Given the description of an element on the screen output the (x, y) to click on. 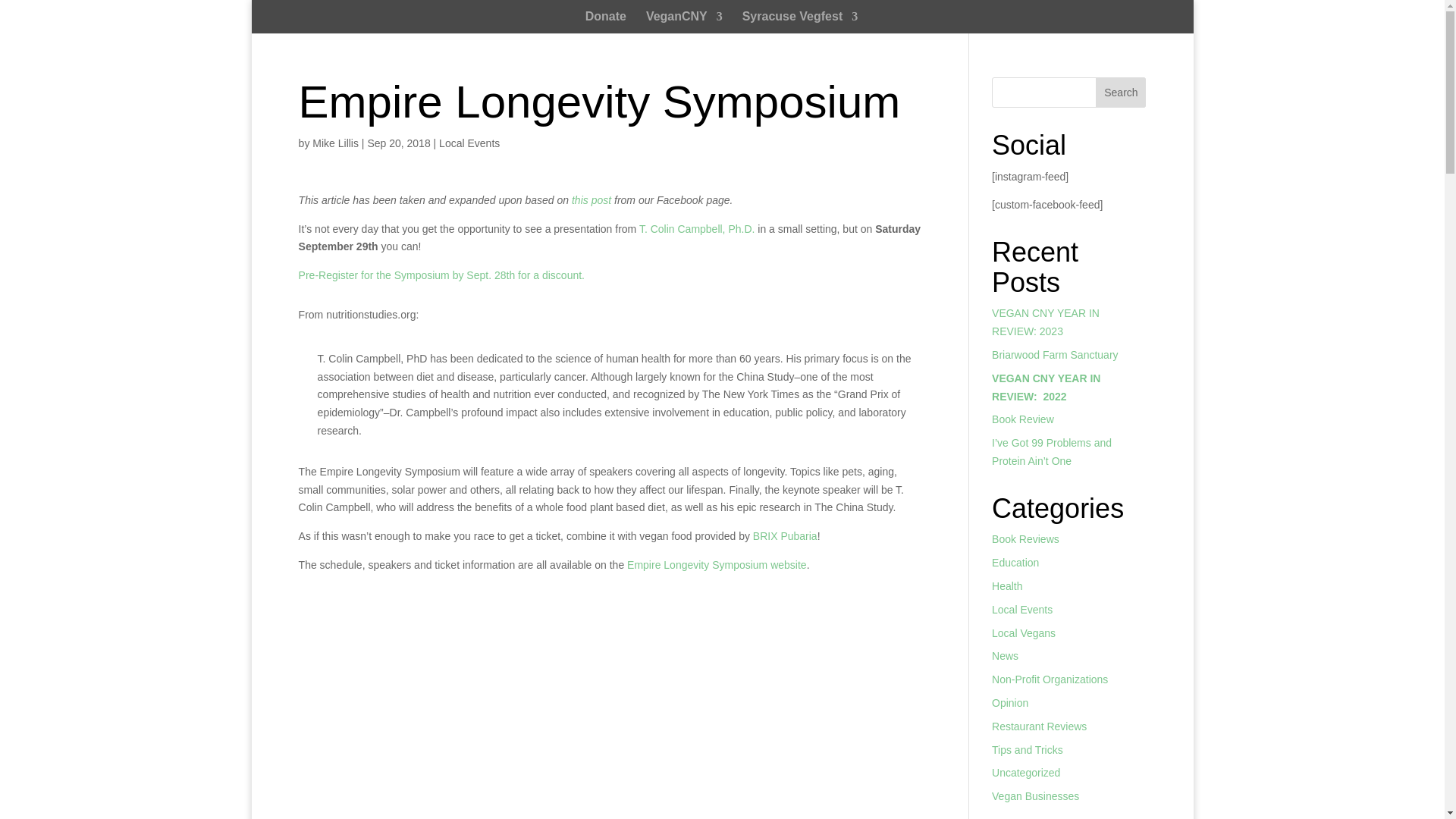
VEGAN CNY YEAR IN REVIEW: 2023 (1045, 322)
Empire Longevity Symposium website (716, 564)
VEGAN CNY YEAR IN REVIEW:  2022 (1045, 387)
BRIX Pubaria (784, 535)
Briarwood Farm Sanctuary (1054, 354)
Pre-Register for the Symposium by Sept. 28th for a discount. (441, 275)
Local Events (469, 143)
Search (1120, 91)
Syracuse Vegfest (800, 22)
this post (591, 200)
VeganCNY (684, 22)
Mike Lillis (335, 143)
Posts by Mike Lillis (335, 143)
Book Review (1022, 419)
Donate (605, 22)
